Given the description of an element on the screen output the (x, y) to click on. 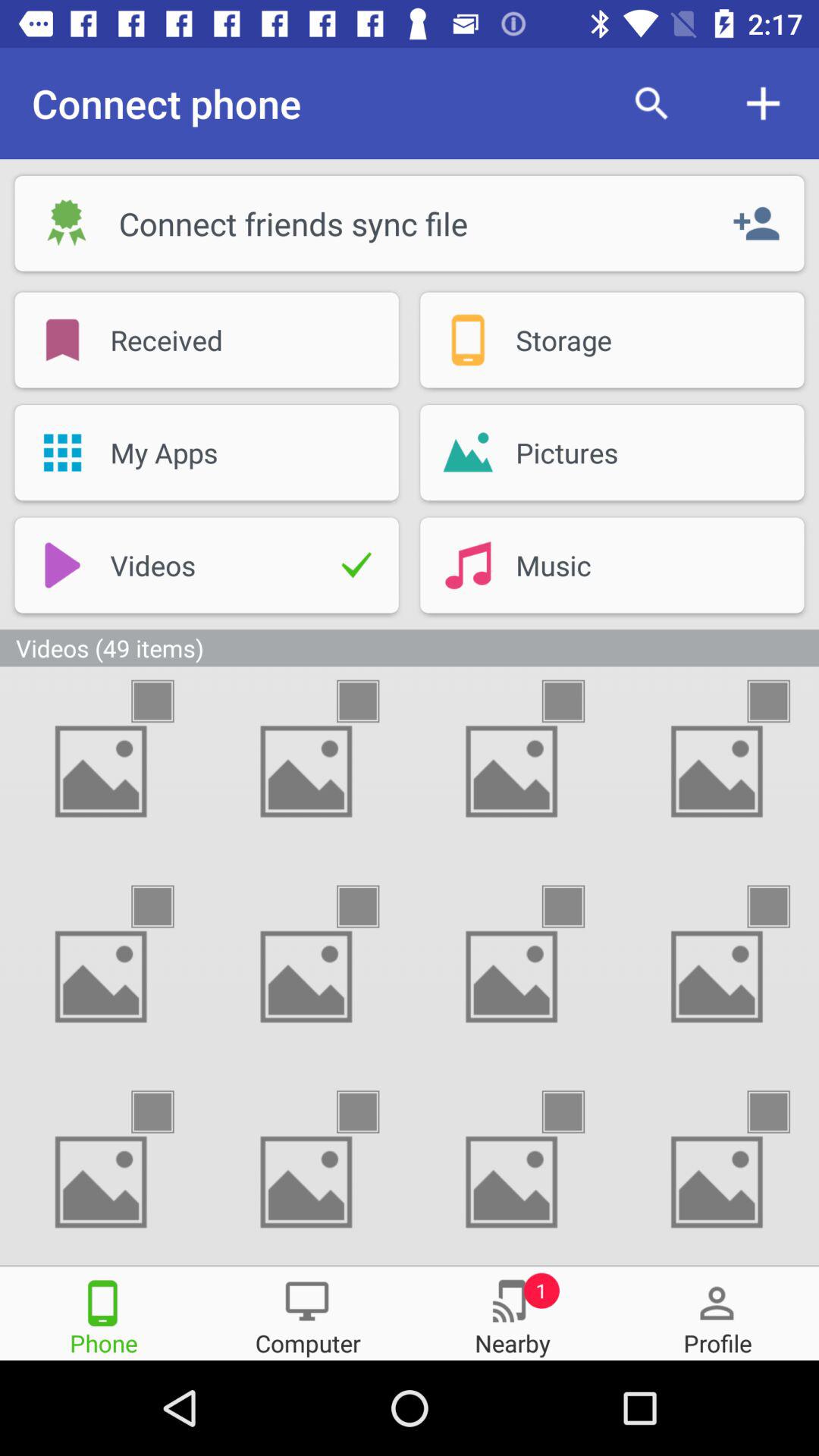
click to photo option (371, 906)
